Given the description of an element on the screen output the (x, y) to click on. 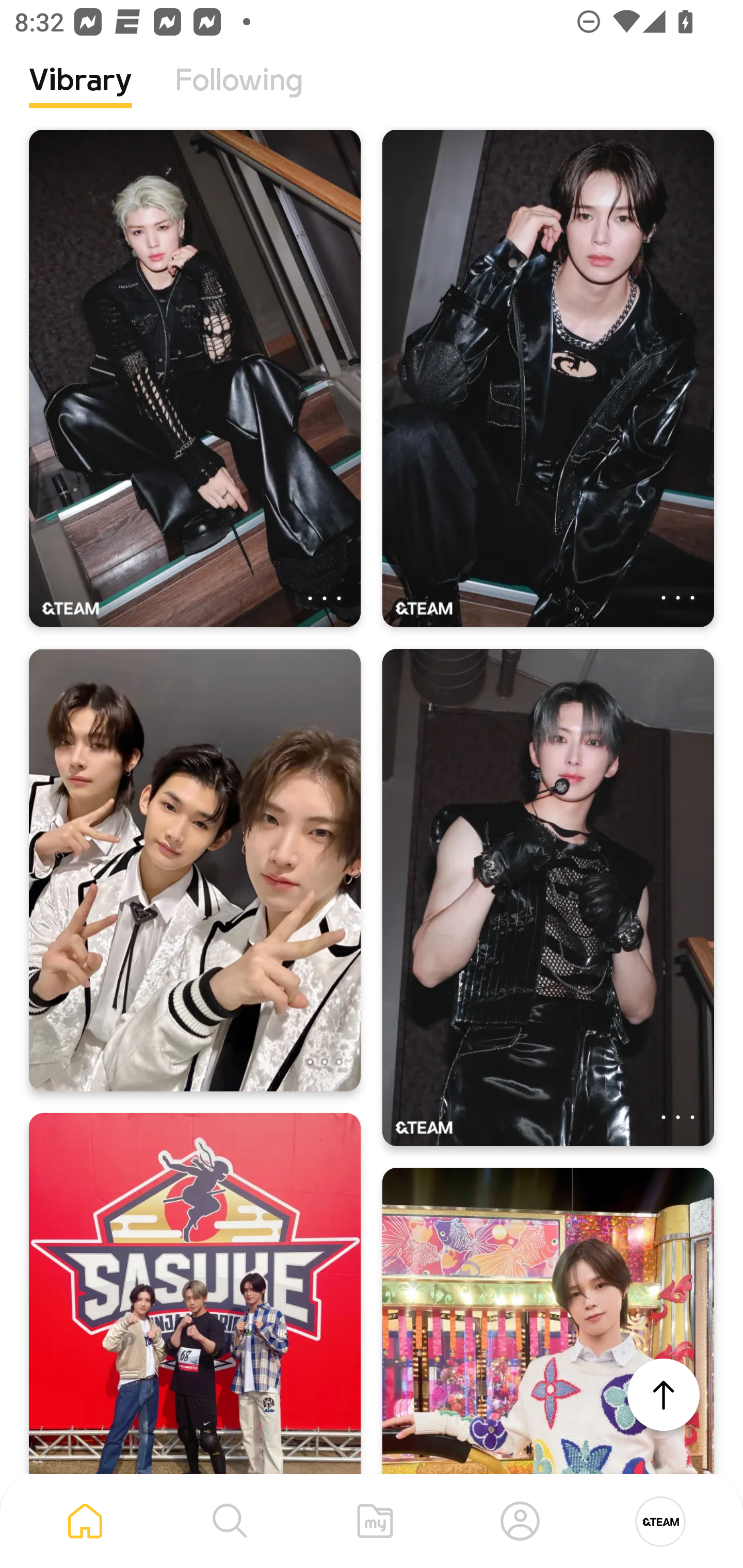
Vibrary (80, 95)
Following (239, 95)
